Given the description of an element on the screen output the (x, y) to click on. 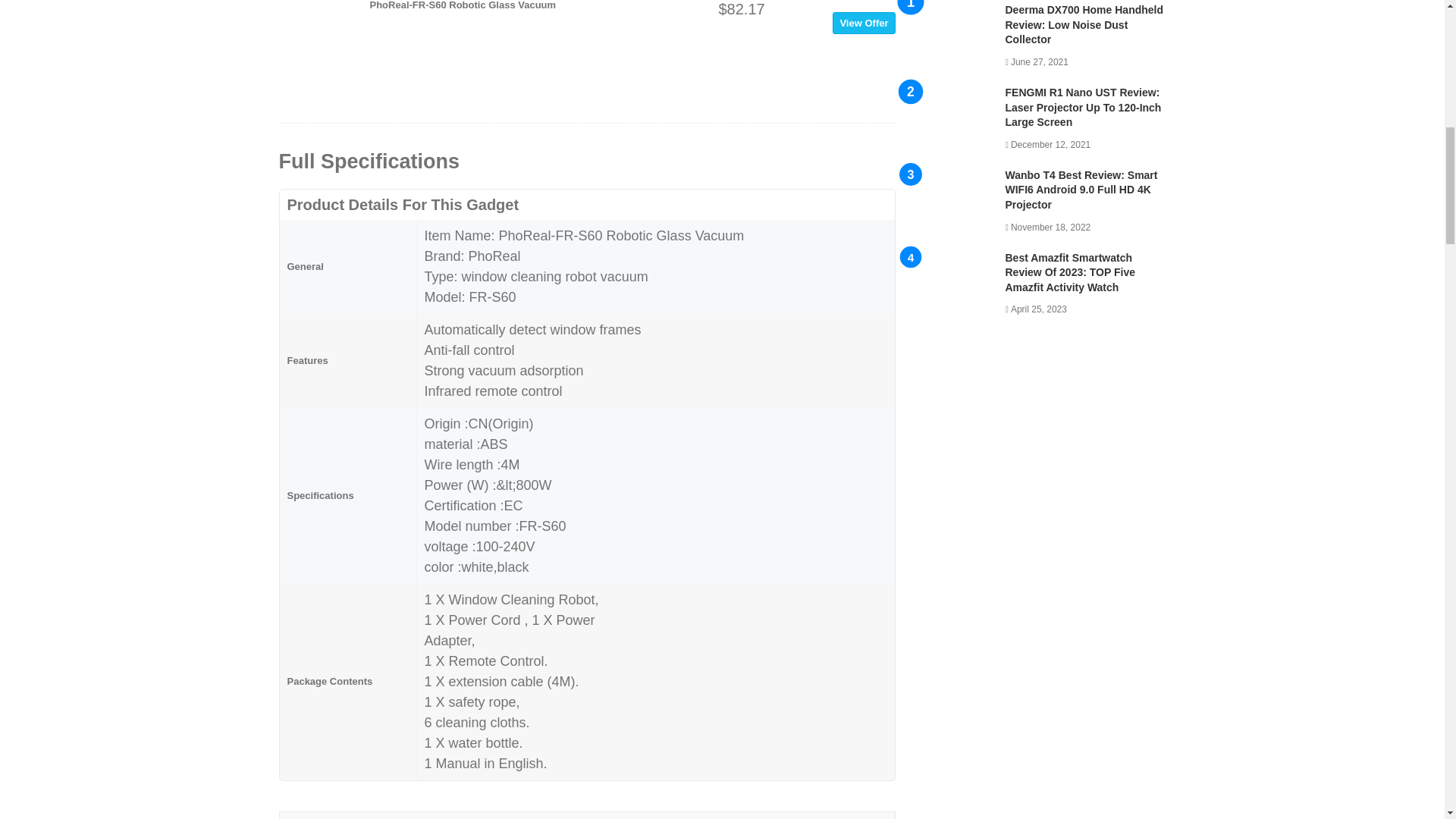
View Offer (863, 23)
